Given the description of an element on the screen output the (x, y) to click on. 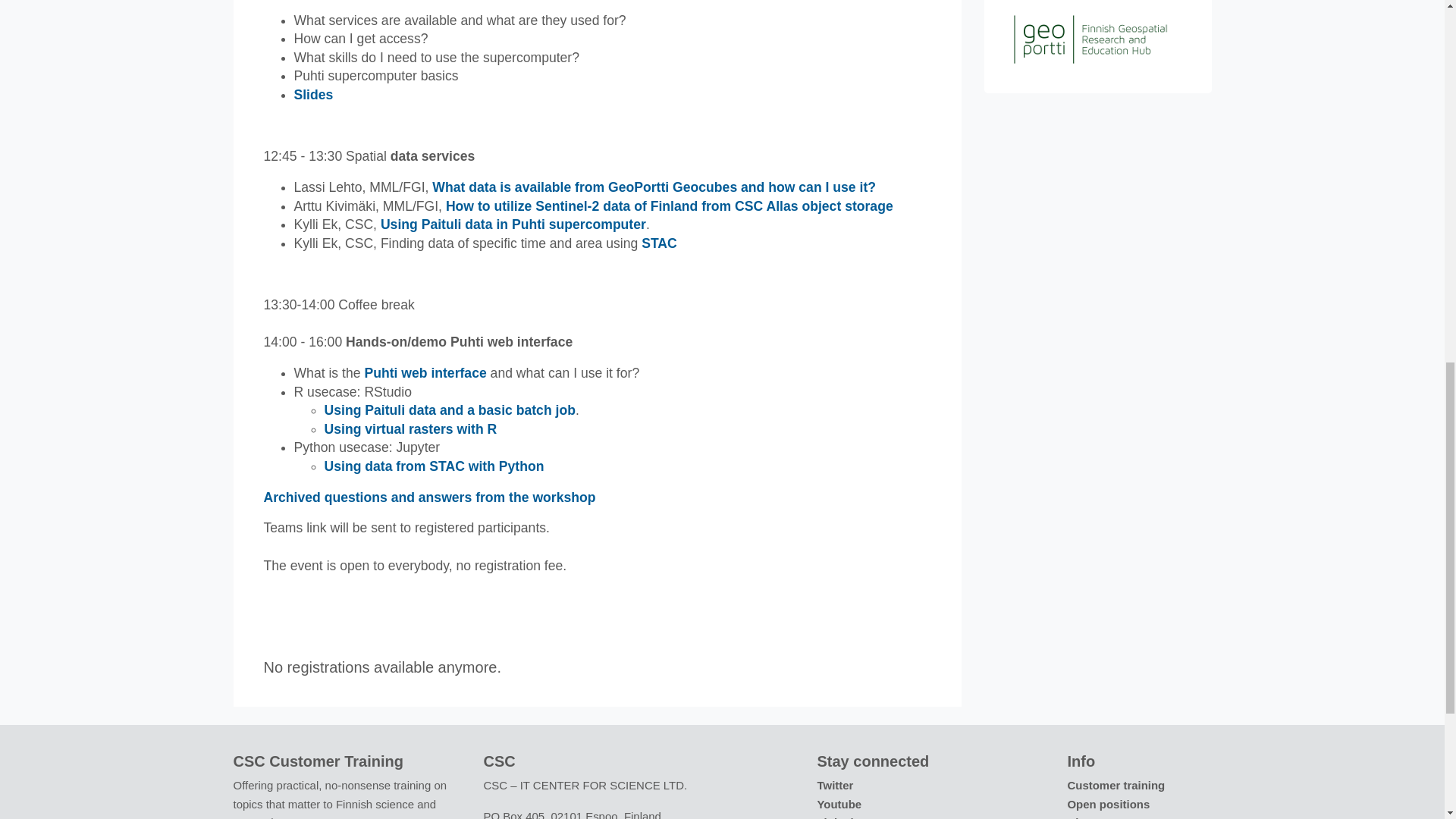
Youtube (838, 803)
Open positions (1108, 803)
Using virtual rasters with R (410, 428)
Using Paituli data and a basic batch job (449, 409)
Puhti web interface (425, 372)
Using Paituli data in Puhti supercomputer (513, 224)
Twitter (834, 784)
LinkedIn (839, 817)
Slides (313, 94)
Archived questions and answers from the workshop (429, 497)
STAC (659, 242)
Hedgedoc (429, 497)
About CSC (1096, 817)
